Given the description of an element on the screen output the (x, y) to click on. 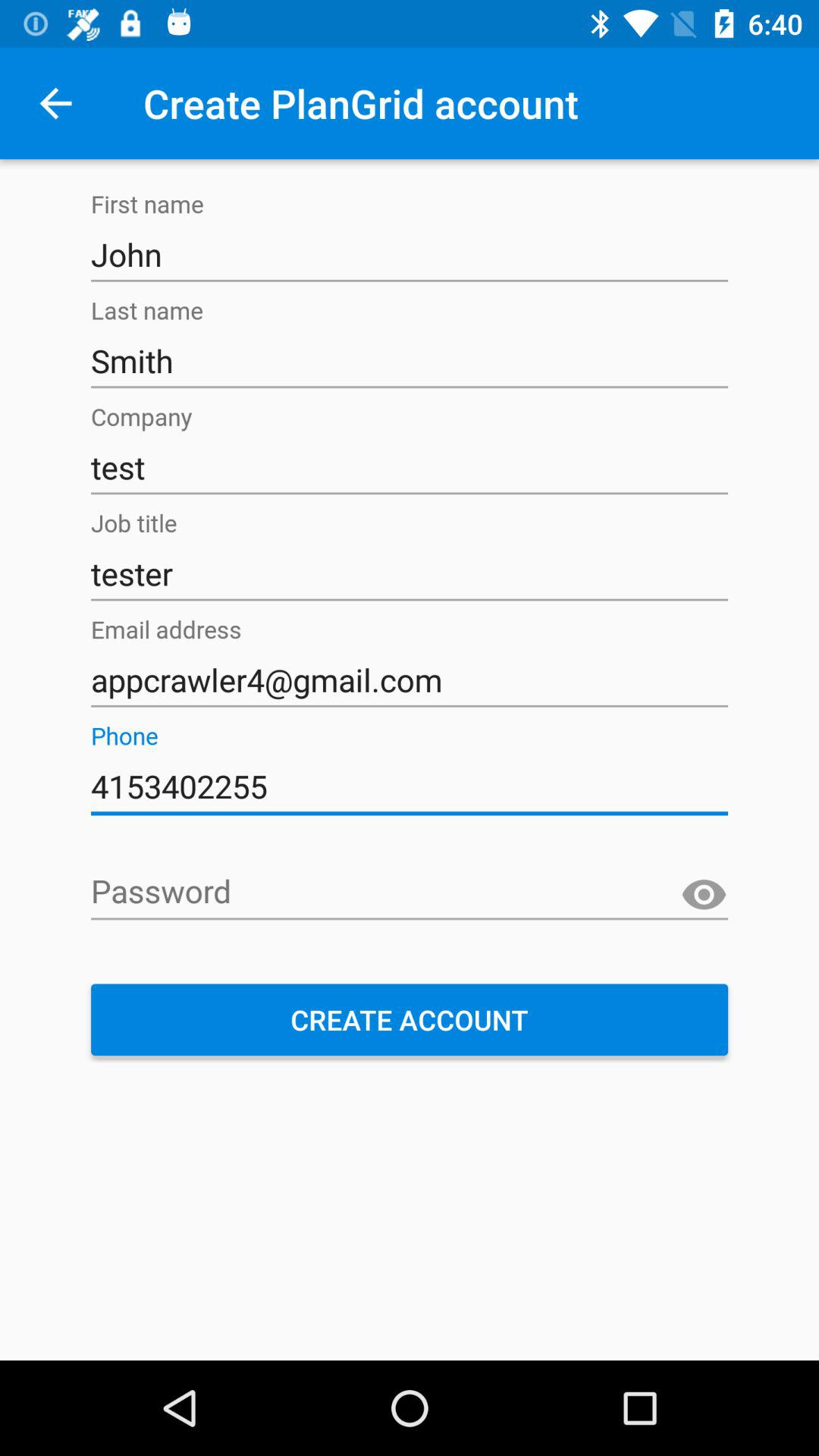
select the text field  which contains john (409, 254)
click on text which is below phone (409, 786)
go to the text field below company (409, 468)
